Given the description of an element on the screen output the (x, y) to click on. 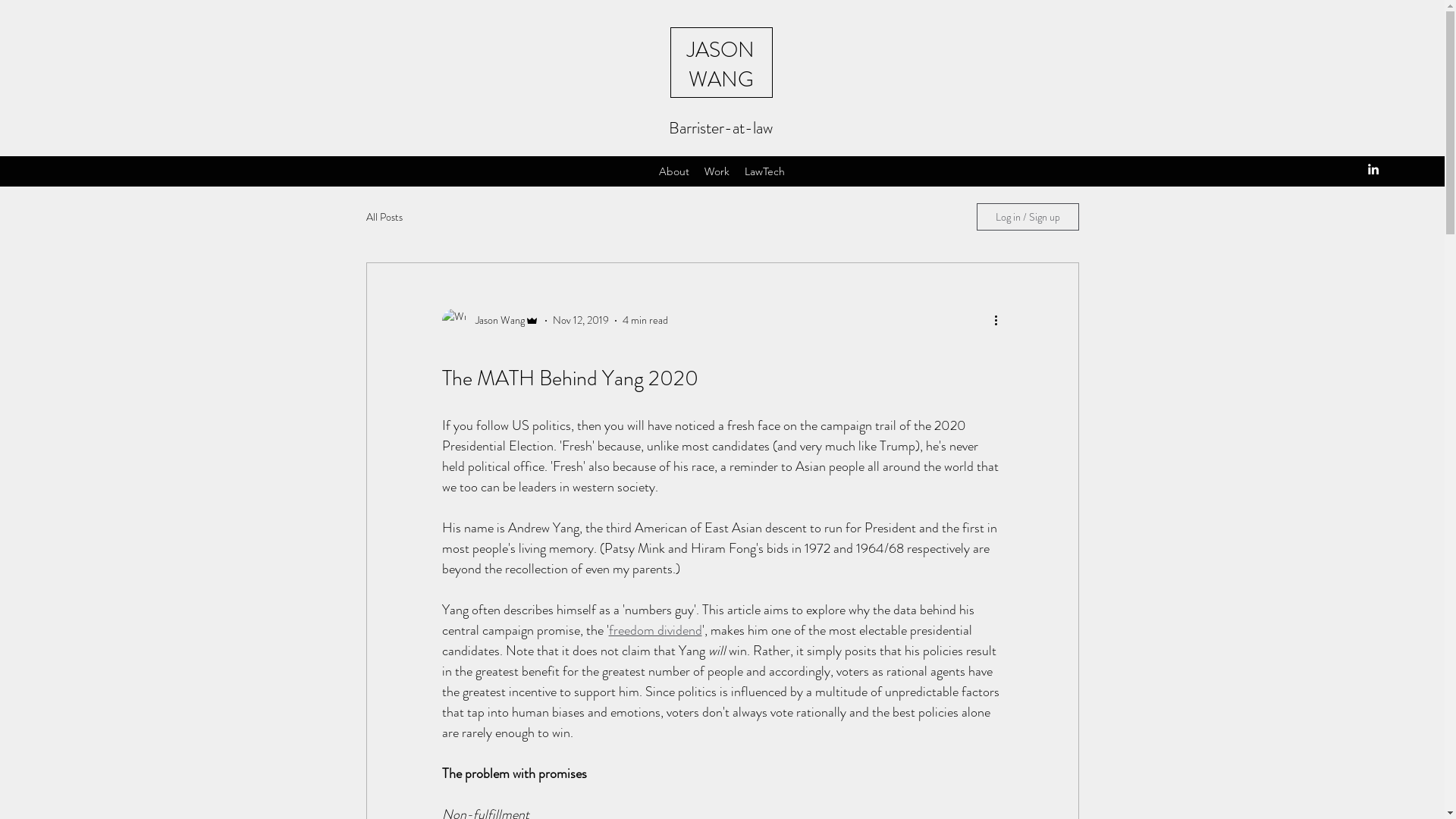
LawTech Element type: text (764, 170)
All Posts Element type: text (383, 216)
Work Element type: text (716, 170)
About Element type: text (673, 170)
freedom dividend Element type: text (654, 630)
Log in / Sign up Element type: text (1027, 216)
